Given the description of an element on the screen output the (x, y) to click on. 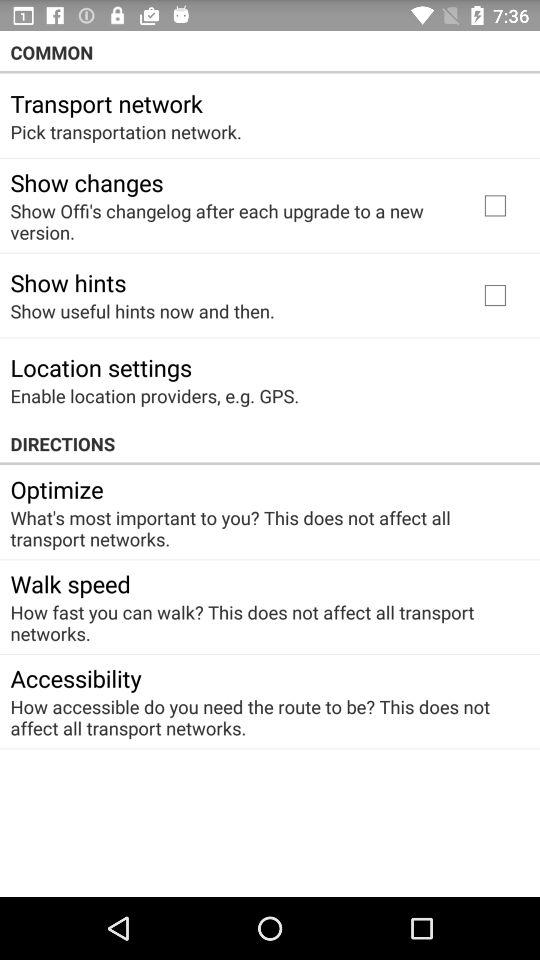
press the app below the pick transportation network. item (86, 182)
